Given the description of an element on the screen output the (x, y) to click on. 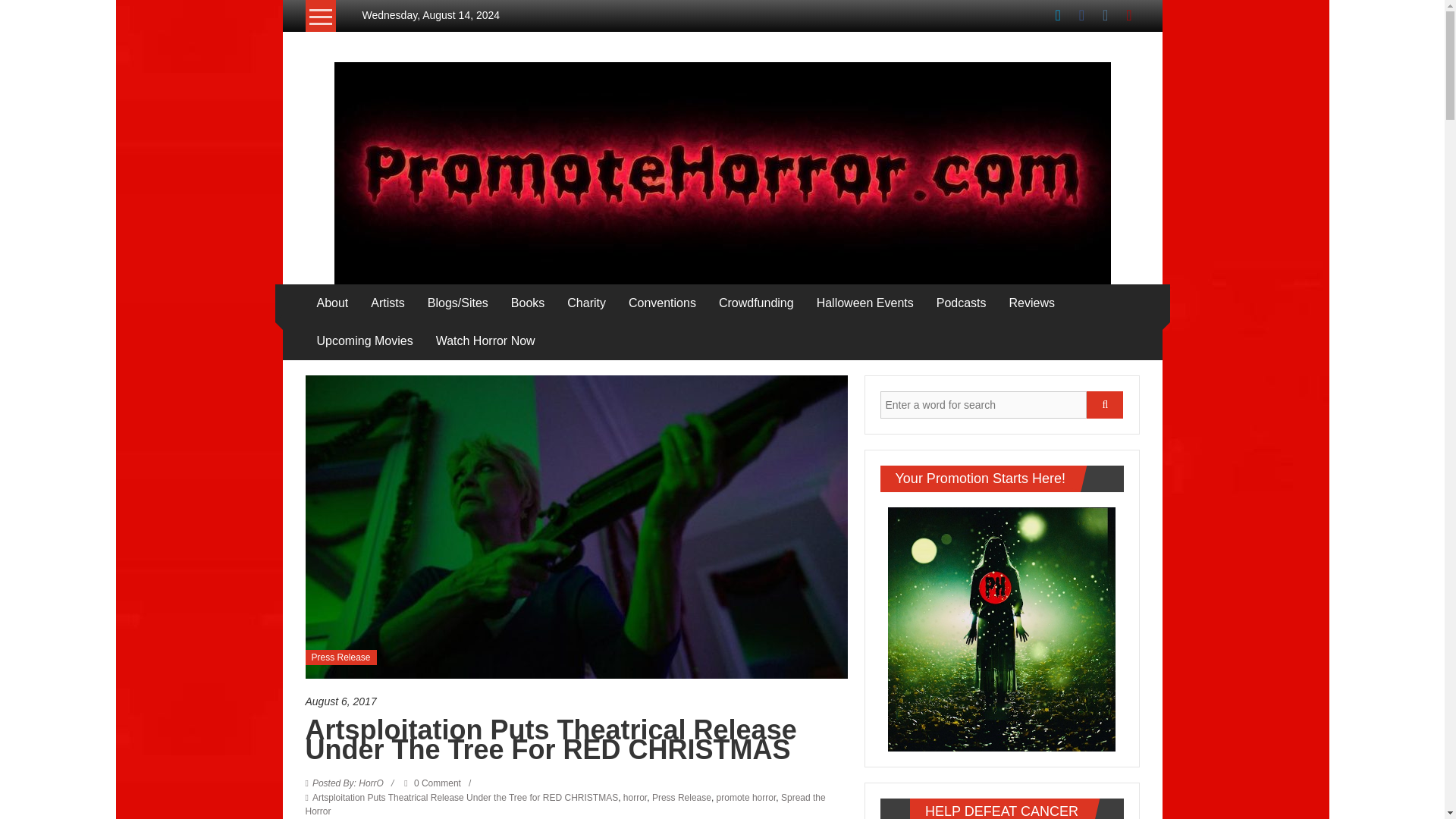
Upcoming Movies (365, 341)
Conventions (661, 303)
Posted By: HorrO (348, 783)
Podcasts (961, 303)
Press Release (339, 657)
Watch Horror Now (485, 341)
Charity (586, 303)
Reviews (1031, 303)
5:00 pm (575, 701)
